Given the description of an element on the screen output the (x, y) to click on. 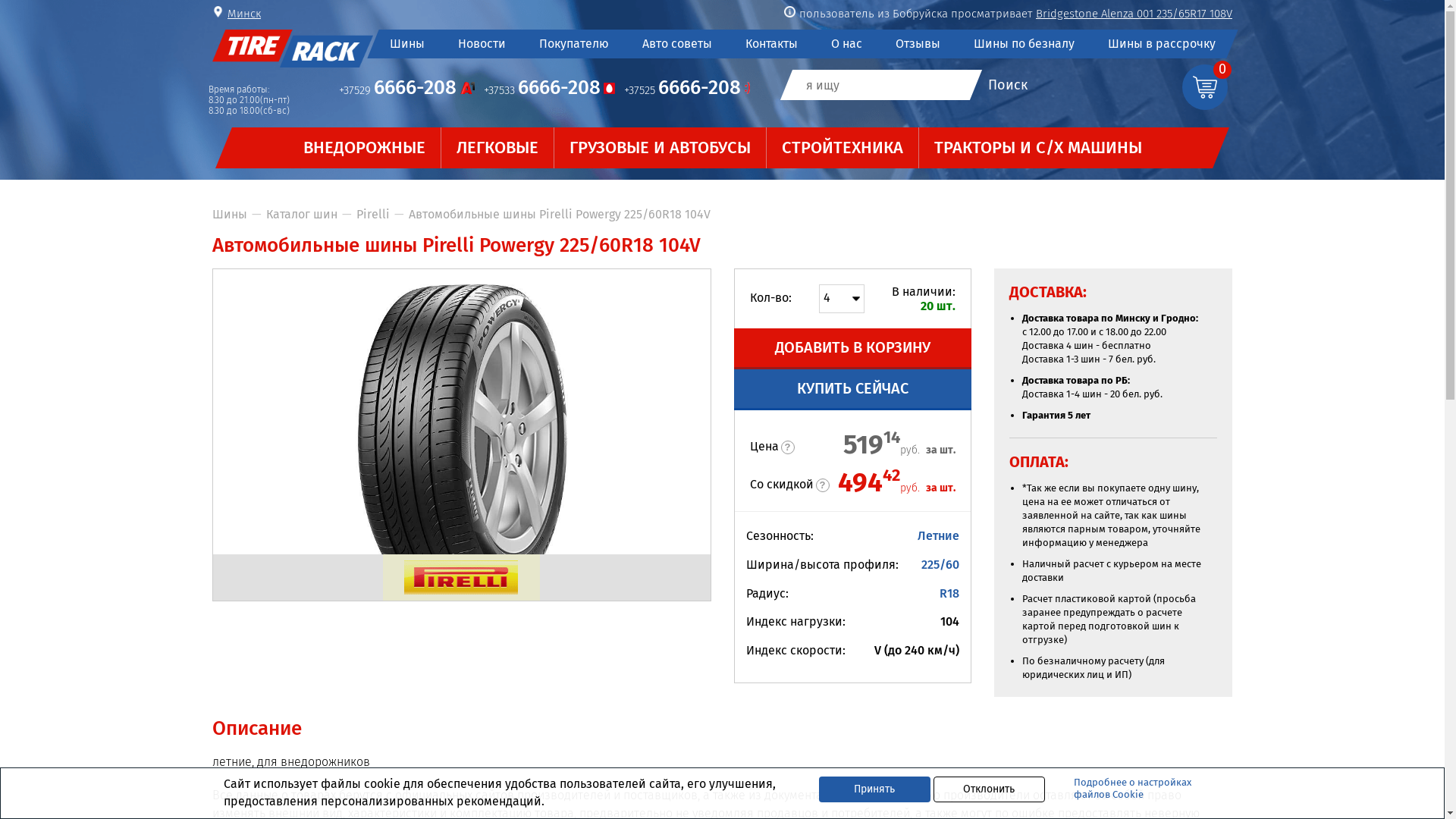
+37533 6666-208 Element type: text (549, 89)
+37525 6666-208 Element type: text (686, 89)
+37529 6666-208 Element type: text (406, 89)
Gislaved Soft*Frost 200 195/55R16 91T Element type: text (1137, 13)
Pirelli Element type: hover (460, 577)
225/60 Element type: text (940, 564)
Pirelli Element type: text (372, 214)
R18 Element type: text (949, 593)
